Given the description of an element on the screen output the (x, y) to click on. 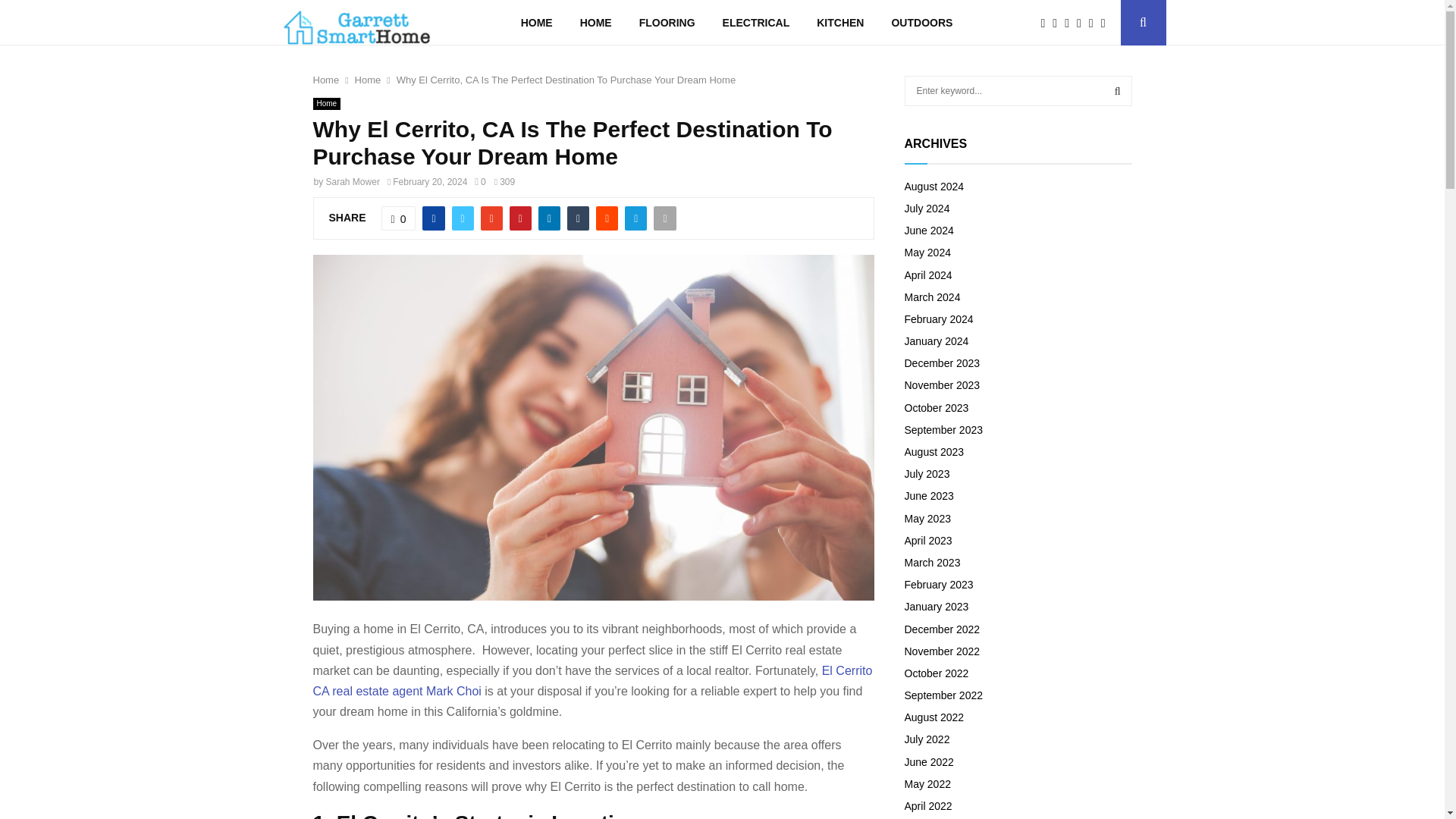
0 (479, 181)
El Cerrito CA real estate agent Mark Choi (592, 680)
Sarah Mower (353, 181)
FLOORING (667, 22)
HOME (596, 22)
HOME (536, 22)
Home (368, 79)
KITCHEN (840, 22)
Like (398, 218)
